Given the description of an element on the screen output the (x, y) to click on. 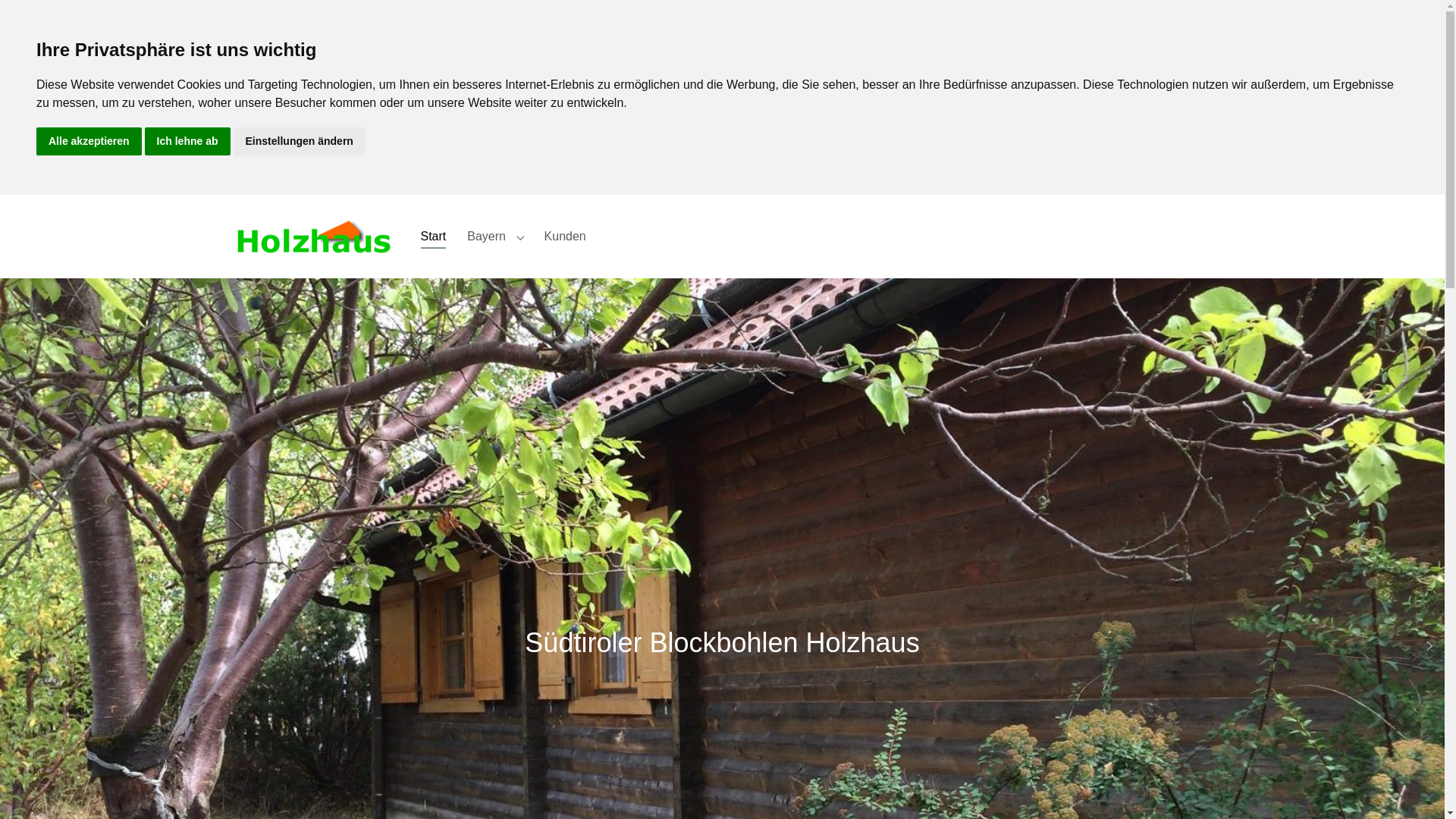
Kunden Element type: text (565, 236)
Submenu for "Bayern" Element type: text (520, 236)
Alle akzeptieren Element type: text (88, 141)
Bayern Element type: text (486, 236)
Ich lehne ab Element type: text (187, 141)
Start
(current) Element type: text (432, 236)
